Given the description of an element on the screen output the (x, y) to click on. 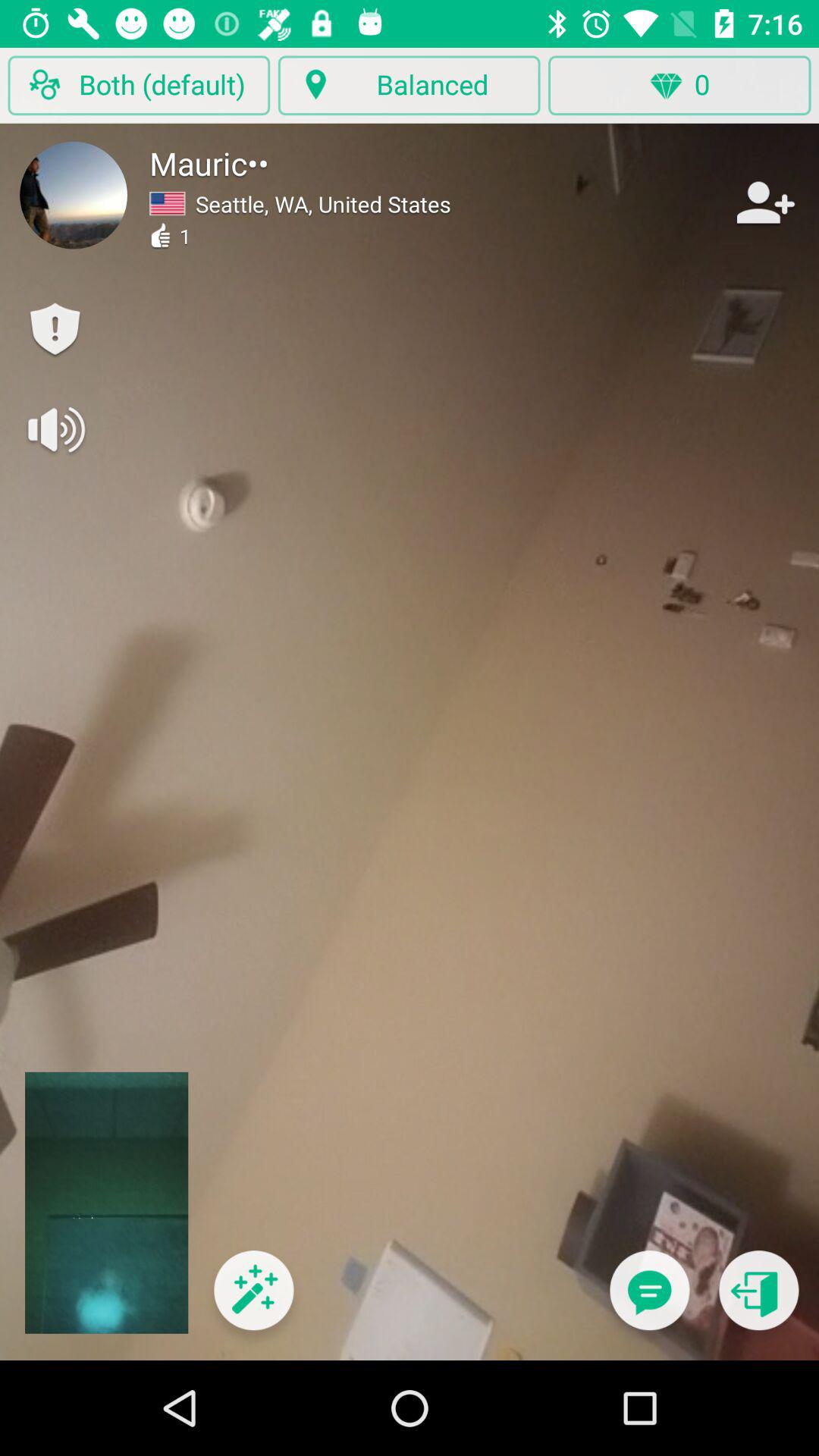
go to profile (73, 195)
